Given the description of an element on the screen output the (x, y) to click on. 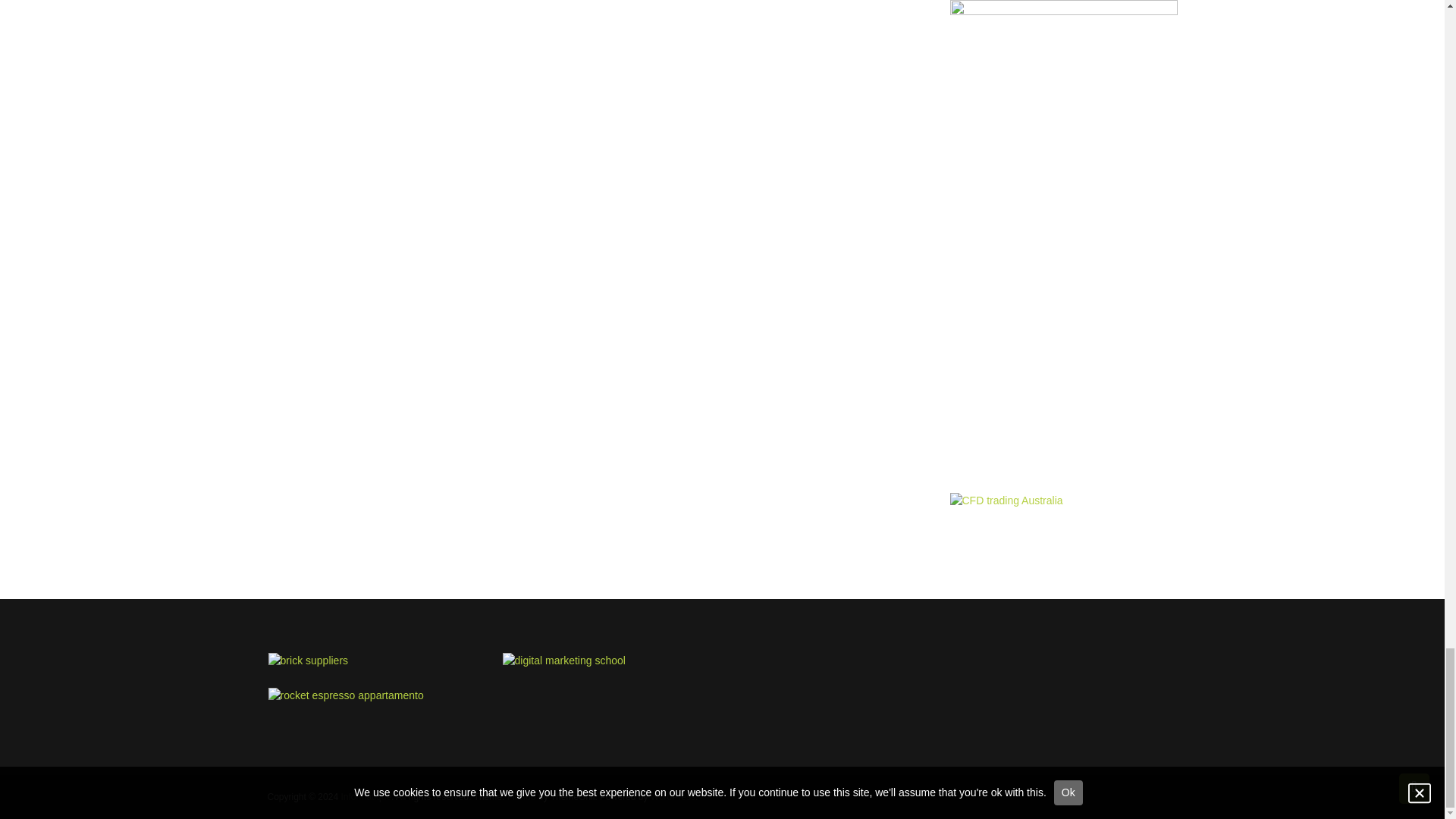
WordPress (672, 796)
FitClub (520, 796)
Informatique (365, 796)
Informatique (365, 796)
WordPress (672, 796)
FitClub (520, 796)
